Given the description of an element on the screen output the (x, y) to click on. 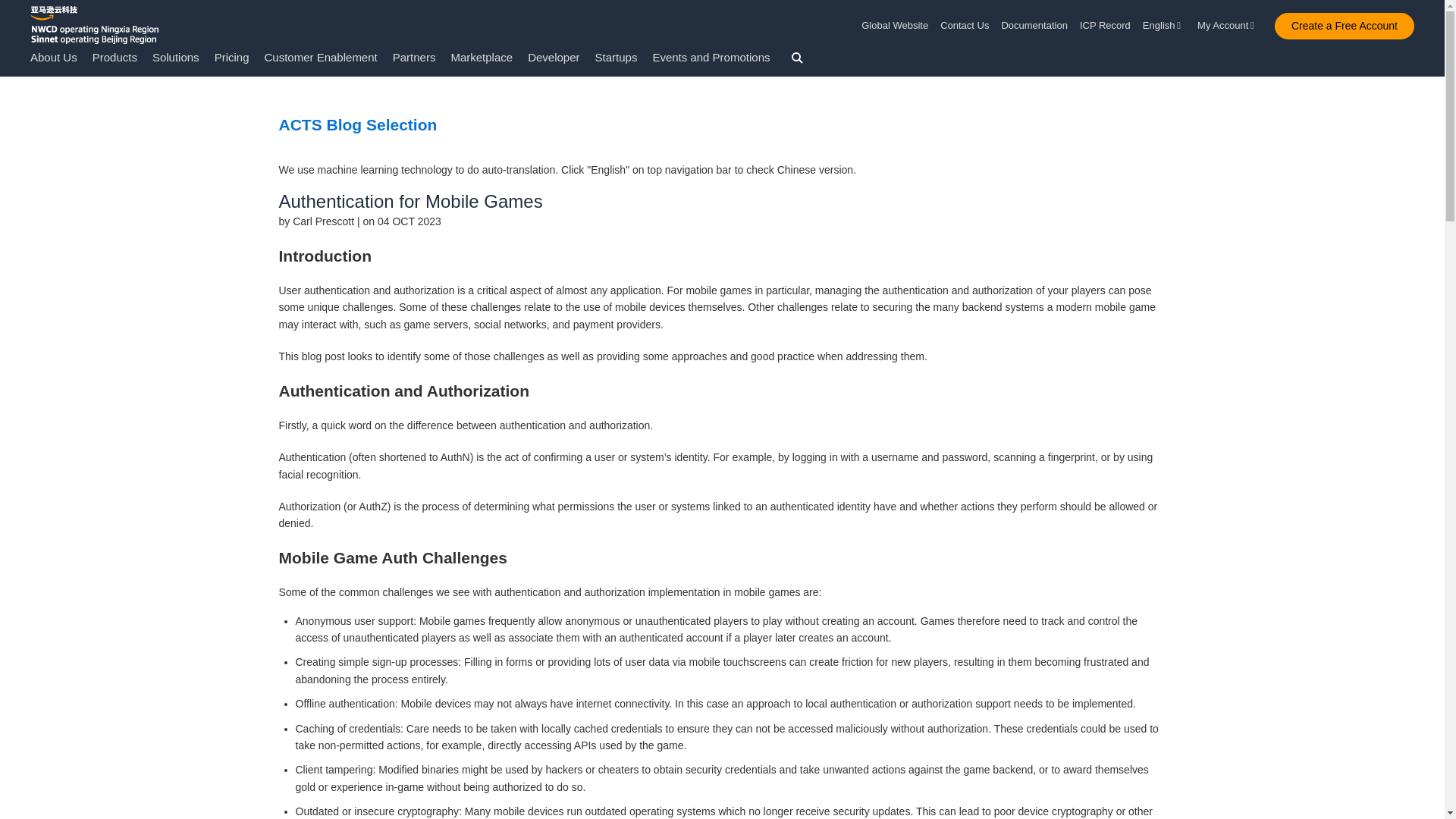
Customer Enablement (320, 56)
Create a Free Account (1344, 25)
Global Website (897, 26)
My Account  (1228, 26)
Contact Us (964, 26)
Products (114, 56)
Documentation (1033, 26)
About Us (53, 56)
Skip to main content (7, 83)
Events and Promotions (711, 56)
ICP Record (1105, 26)
Pricing (231, 56)
Partners (414, 56)
Developer (553, 56)
